Given the description of an element on the screen output the (x, y) to click on. 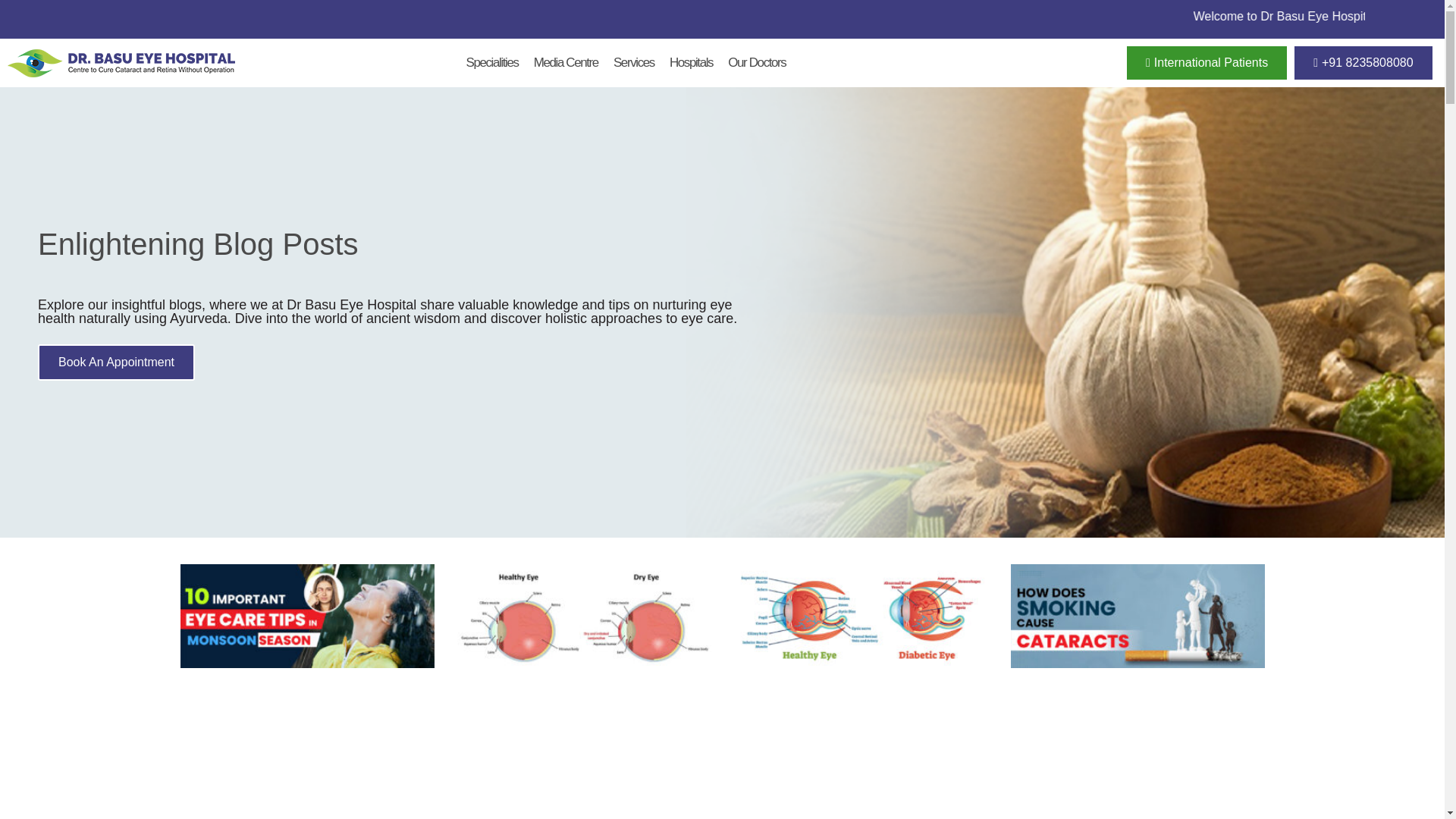
Specialities (491, 62)
Services (633, 62)
Hospitals (691, 62)
Our Doctors (756, 62)
Media Centre (565, 62)
